Given the description of an element on the screen output the (x, y) to click on. 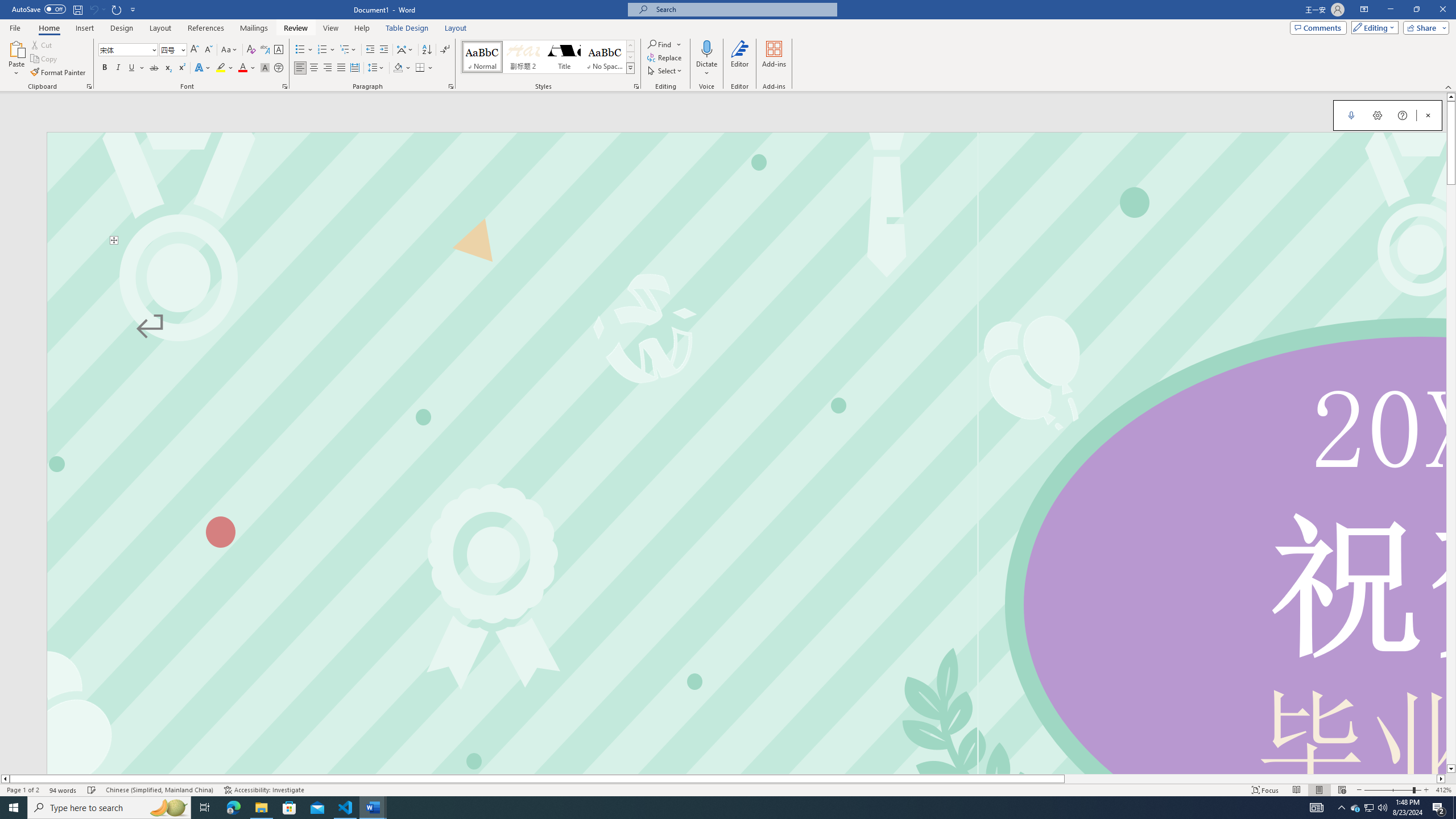
Language Chinese (Simplified, Mainland China) (159, 790)
Row up (630, 45)
Column left (5, 778)
Italic (118, 67)
Class: NetUIScrollBar (722, 778)
Close Dictation (1428, 115)
